Given the description of an element on the screen output the (x, y) to click on. 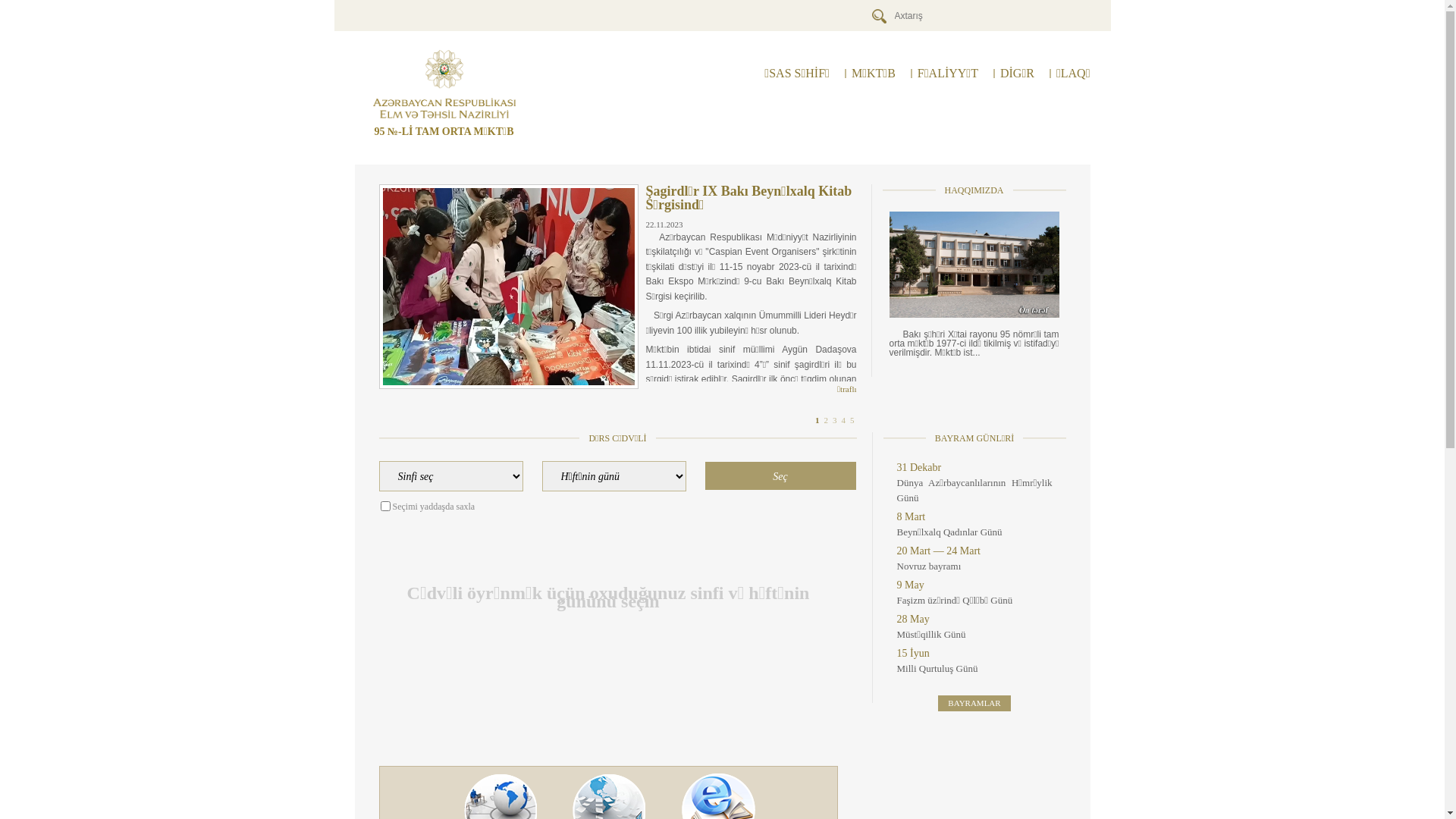
2 Element type: text (825, 419)
4 Element type: text (843, 419)
3 Element type: text (834, 419)
BAYRAMLAR Element type: text (974, 703)
5 Element type: text (852, 419)
1 Element type: text (817, 419)
